Given the description of an element on the screen output the (x, y) to click on. 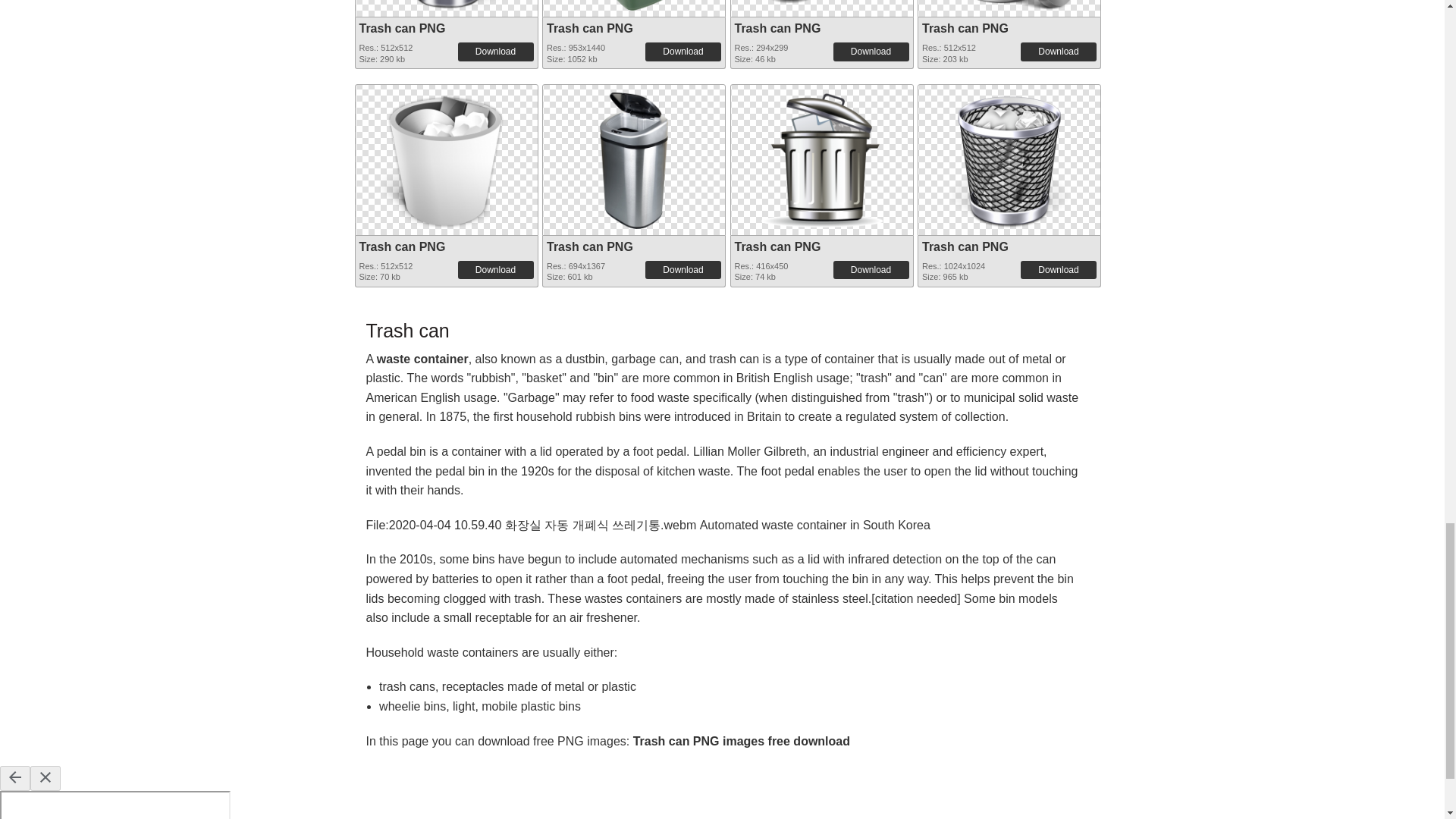
Trash can PNG (821, 5)
Download (496, 51)
Trash can PNG (445, 5)
Trash can PNG (590, 28)
Trash can PNG (777, 28)
Trash can PNG (634, 5)
Download (682, 51)
Download (870, 51)
Download (1058, 51)
Trash can PNG (1008, 5)
Trash can PNG (402, 28)
Trash can PNG (965, 28)
